Given the description of an element on the screen output the (x, y) to click on. 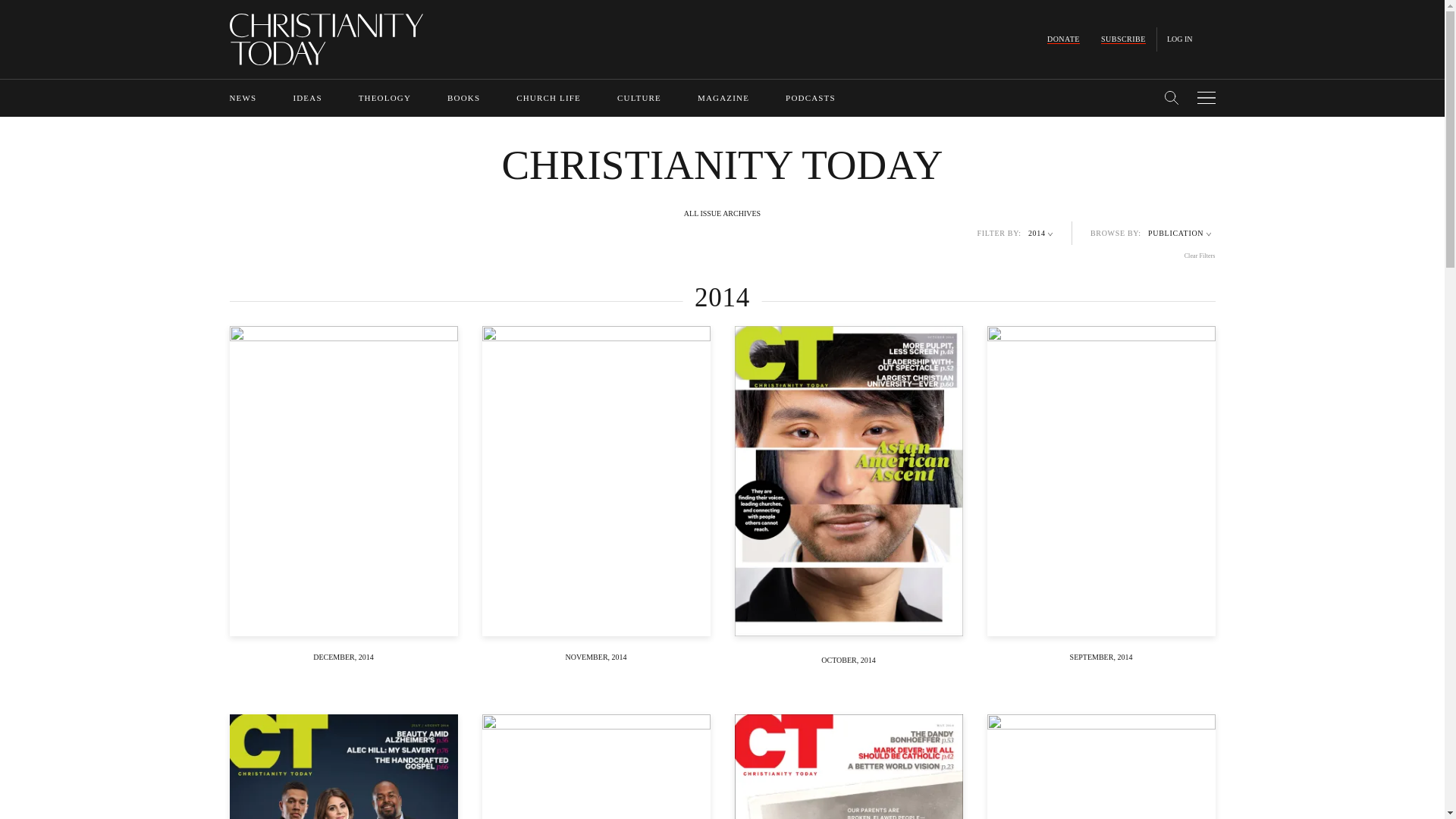
PODCASTS (810, 97)
CULTURE (639, 97)
BOOKS (463, 97)
SUBSCRIBE (1122, 39)
NEWS (242, 97)
MAGAZINE (723, 97)
LOG IN (1179, 39)
DONATE (1063, 39)
CHURCH LIFE (548, 97)
IDEAS (306, 97)
